Given the description of an element on the screen output the (x, y) to click on. 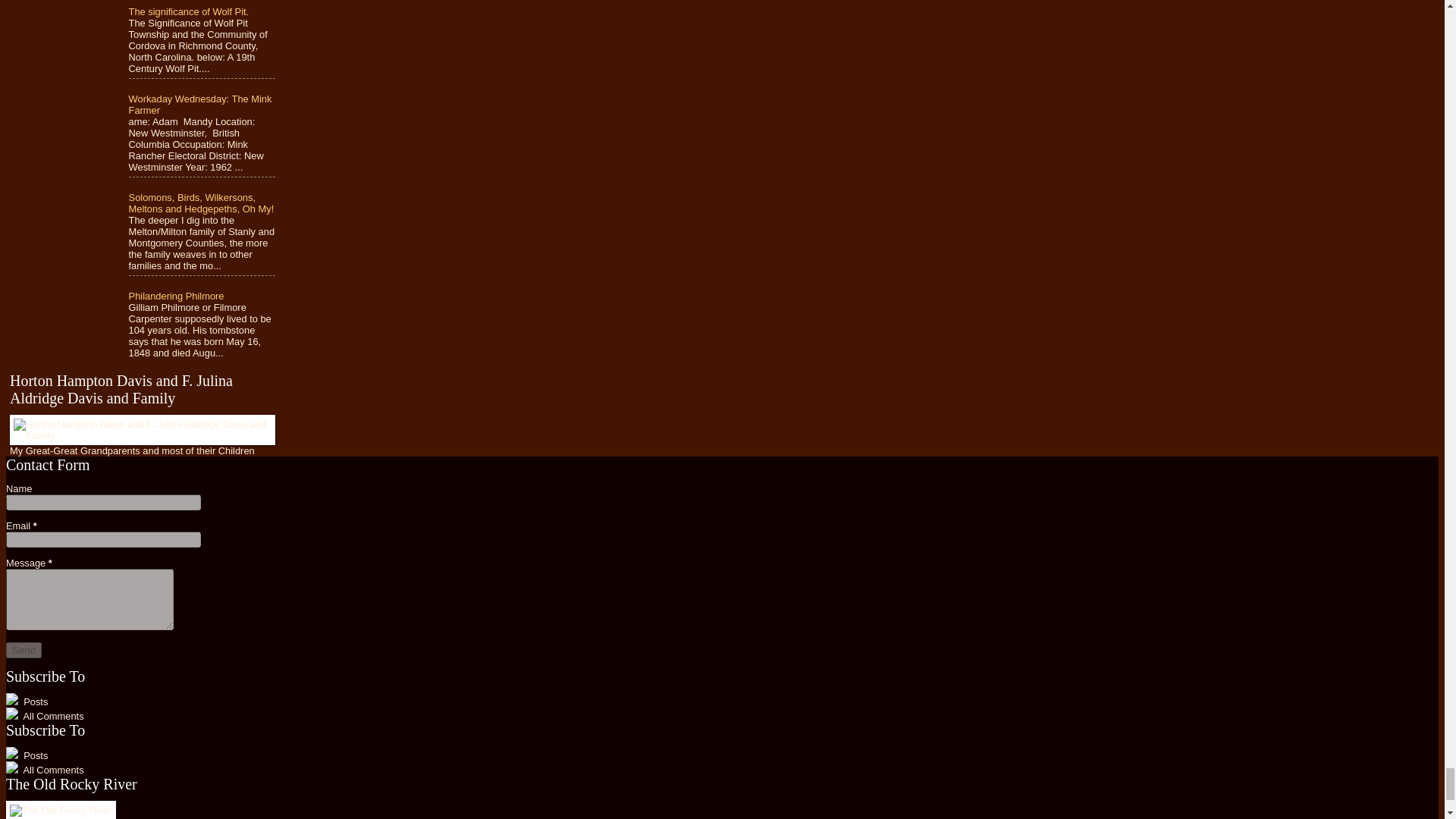
Send (23, 650)
